Given the description of an element on the screen output the (x, y) to click on. 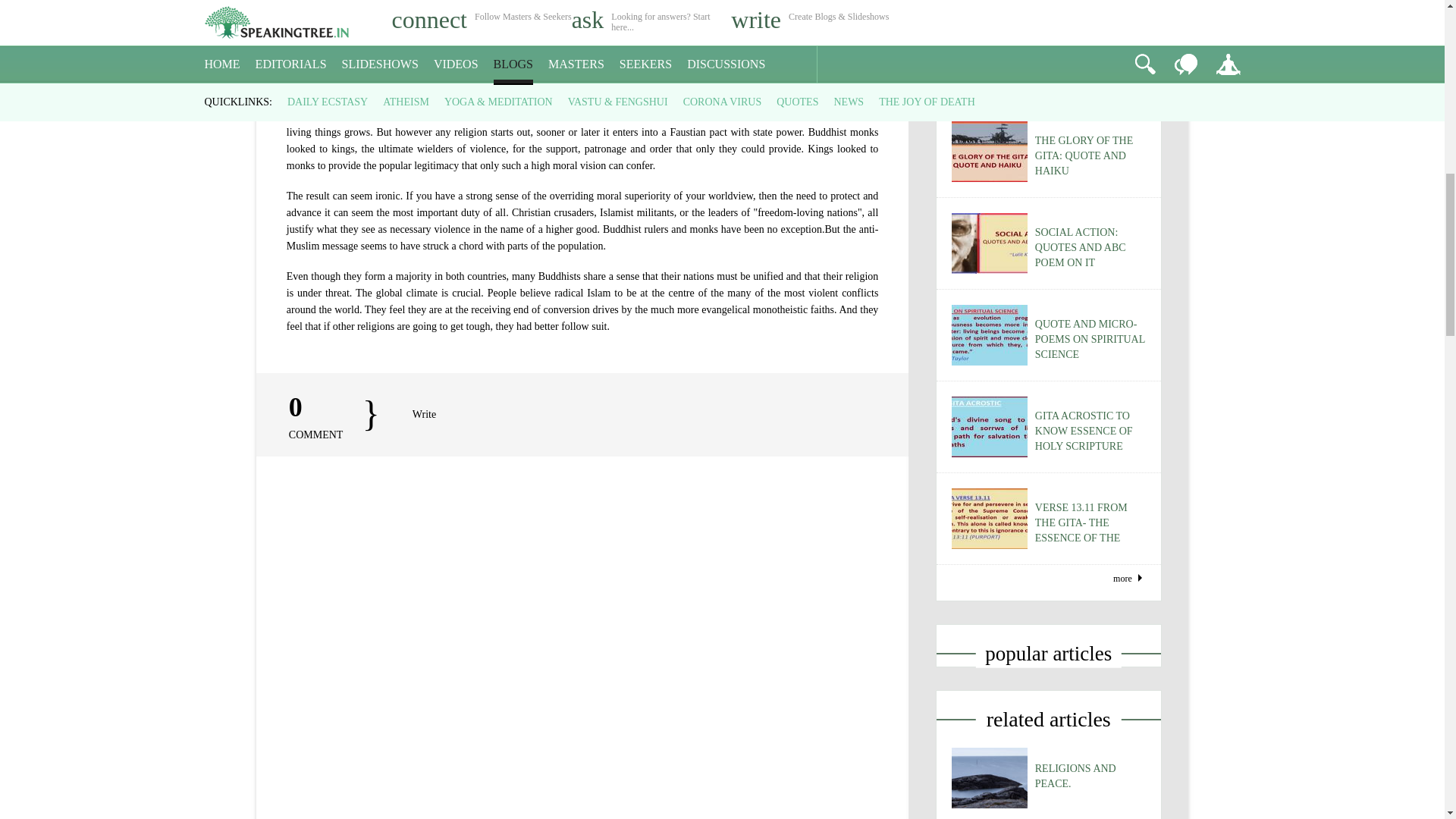
Share on LinkedIn (76, 150)
Share on Facebook (11, 150)
Share on Twitter (44, 150)
Share on Whatsapp (109, 150)
